Given the description of an element on the screen output the (x, y) to click on. 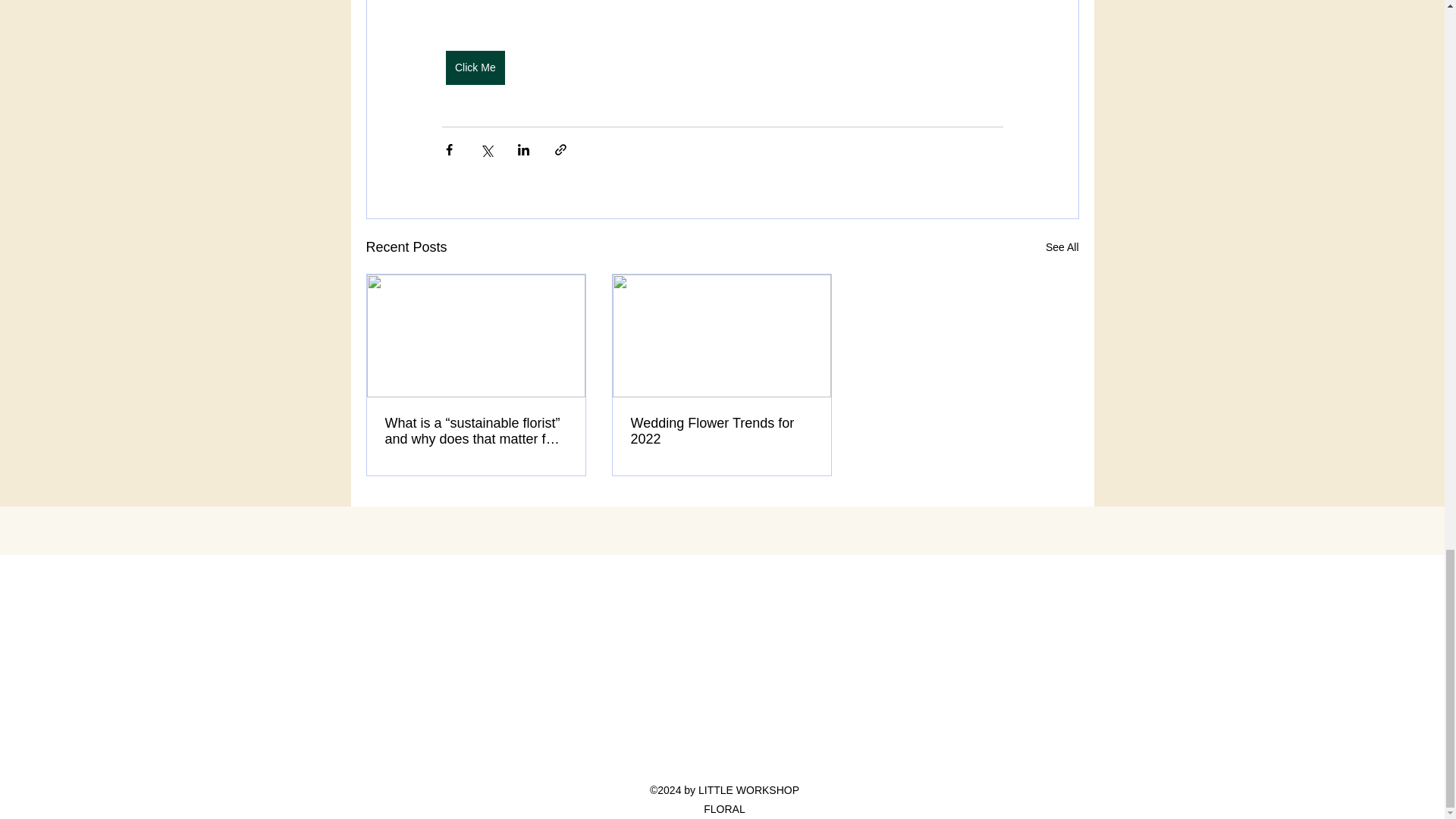
Click Me (475, 67)
Wedding Flower Trends for 2022 (721, 430)
See All (1061, 246)
